Given the description of an element on the screen output the (x, y) to click on. 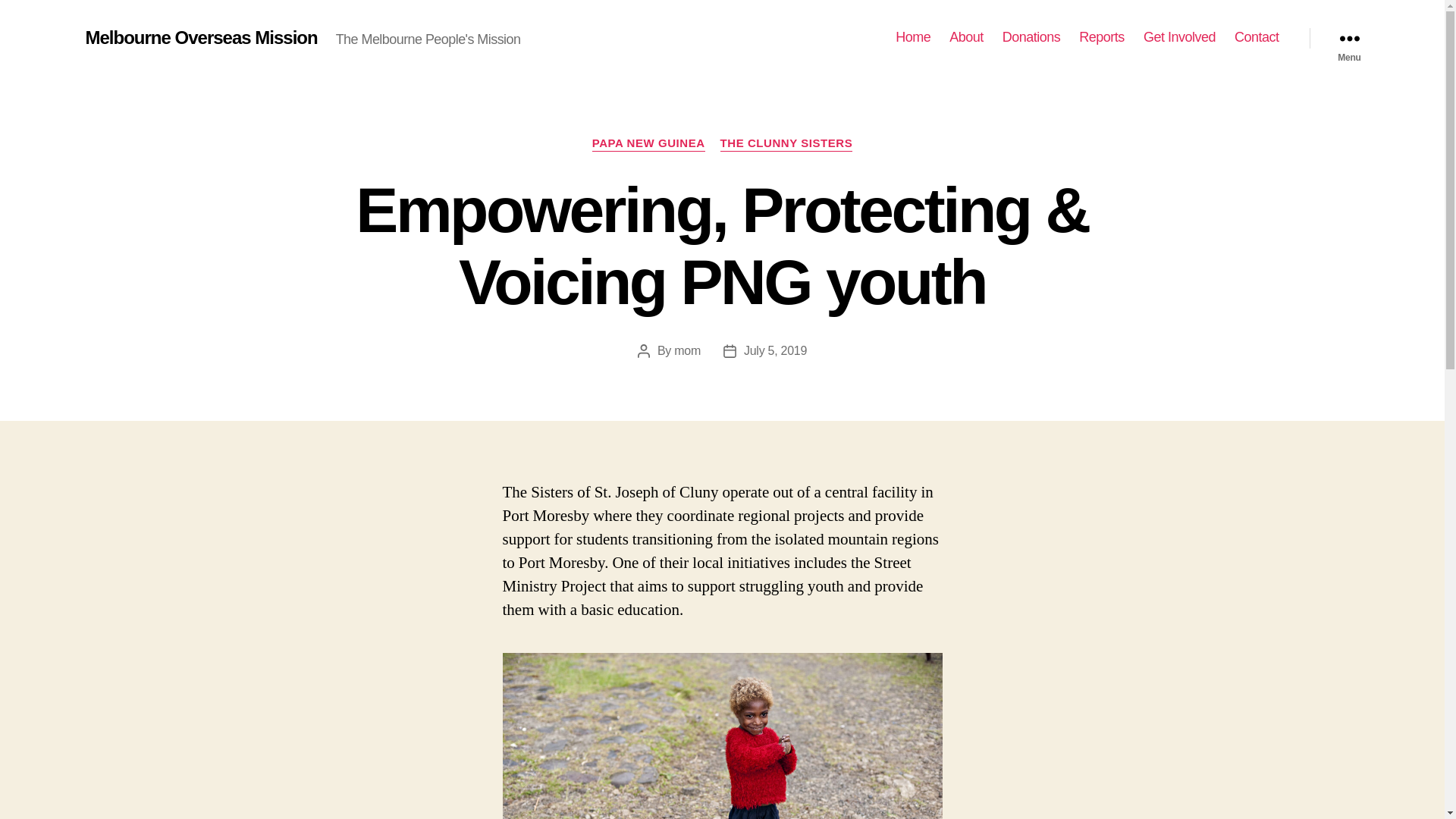
Donations Element type: text (1031, 37)
Contact Element type: text (1256, 37)
PAPA NEW GUINEA Element type: text (648, 143)
mom Element type: text (687, 350)
July 5, 2019 Element type: text (774, 350)
About Element type: text (966, 37)
Melbourne Overseas Mission Element type: text (200, 37)
THE CLUNNY SISTERS Element type: text (786, 143)
Menu Element type: text (1348, 37)
Reports Element type: text (1101, 37)
Get Involved Element type: text (1179, 37)
Home Element type: text (912, 37)
